Given the description of an element on the screen output the (x, y) to click on. 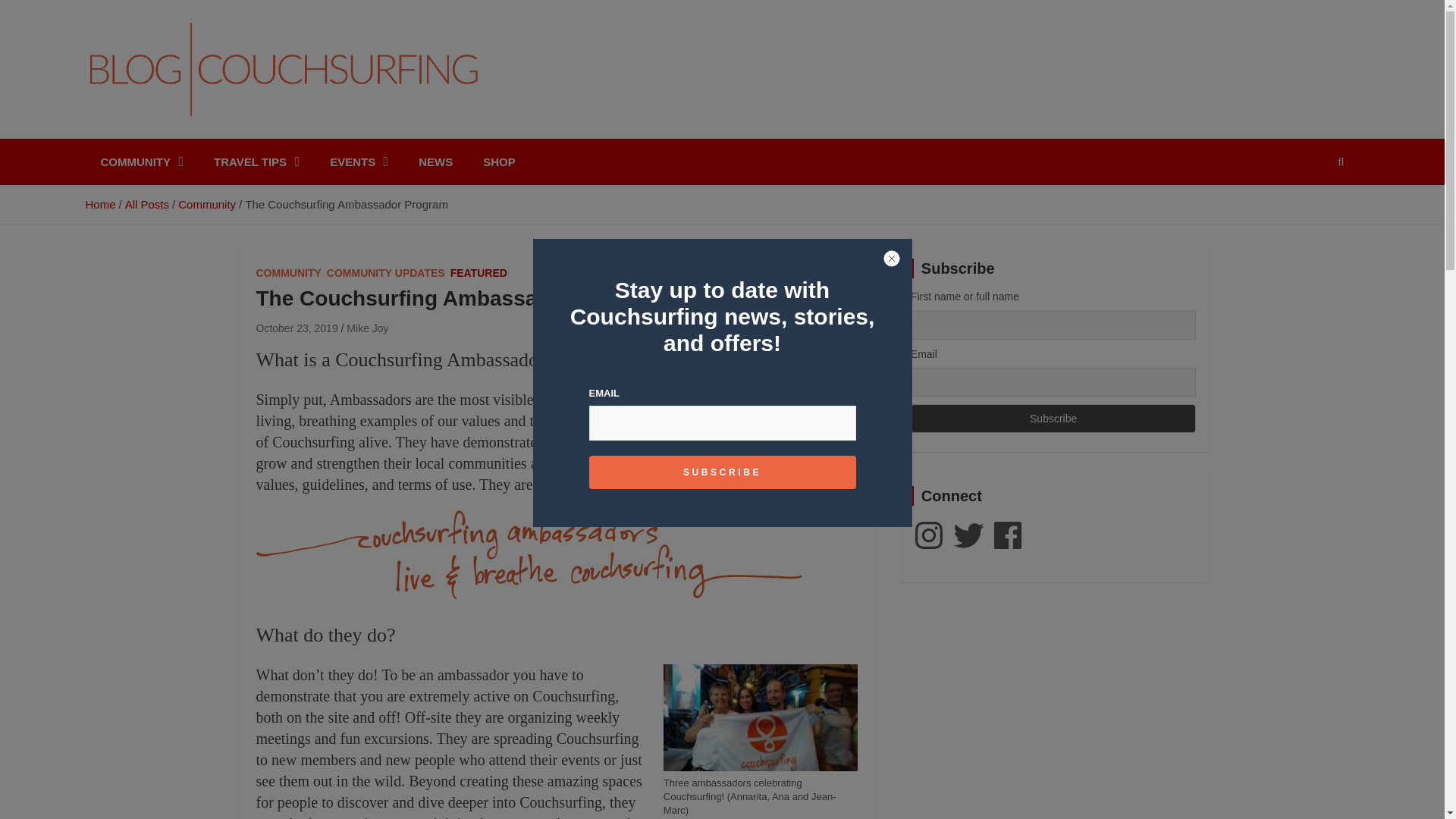
Mike Joy (367, 328)
COMMUNITY (288, 273)
Home (99, 204)
Community (206, 204)
Subscribe (1053, 418)
COMMUNITY UPDATES (385, 273)
All Posts (146, 204)
TRAVEL TIPS (256, 161)
Subscribe (722, 471)
SHOP (499, 161)
Subscribe (1053, 418)
NEWS (435, 161)
Couchsurfing Blog (221, 135)
EVENTS (358, 161)
Close (891, 259)
